Given the description of an element on the screen output the (x, y) to click on. 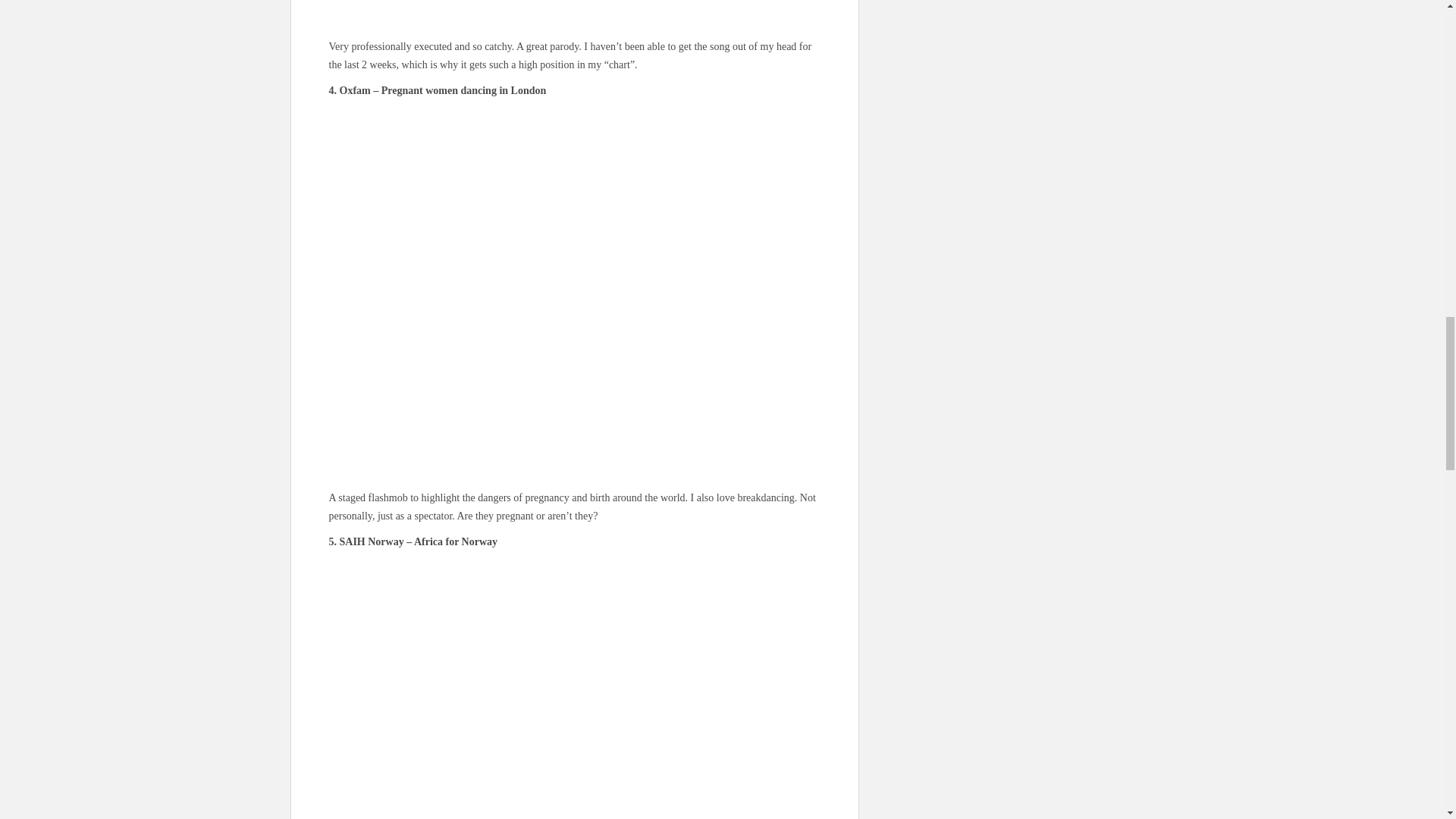
Development Boy (575, 12)
Africa For Norway - New charity single out now! (575, 688)
